Given the description of an element on the screen output the (x, y) to click on. 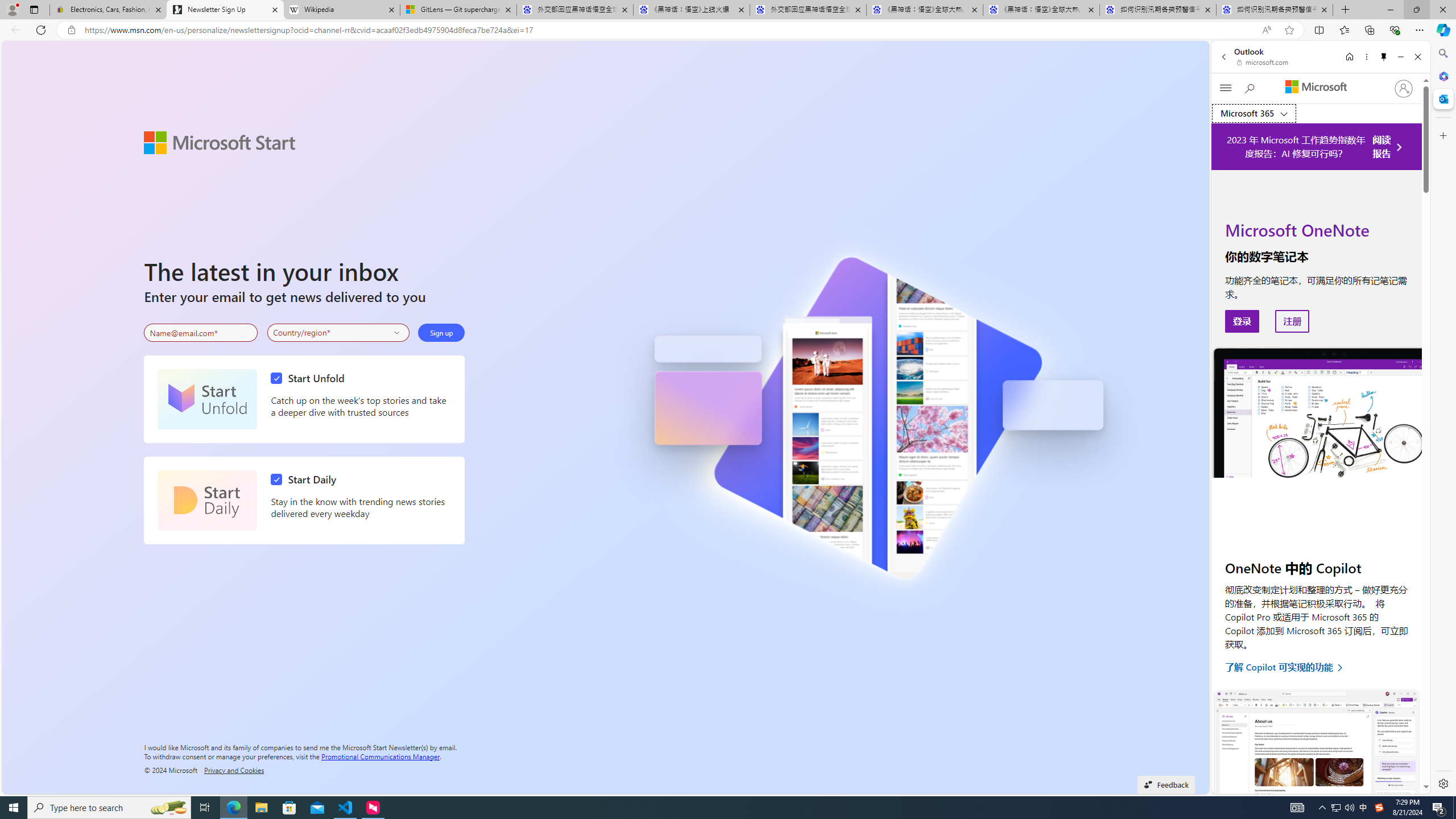
App bar (728, 29)
Enter your email (200, 332)
Unpin side pane (1383, 56)
Microsoft (1315, 87)
Wikipedia (341, 9)
